Given the description of an element on the screen output the (x, y) to click on. 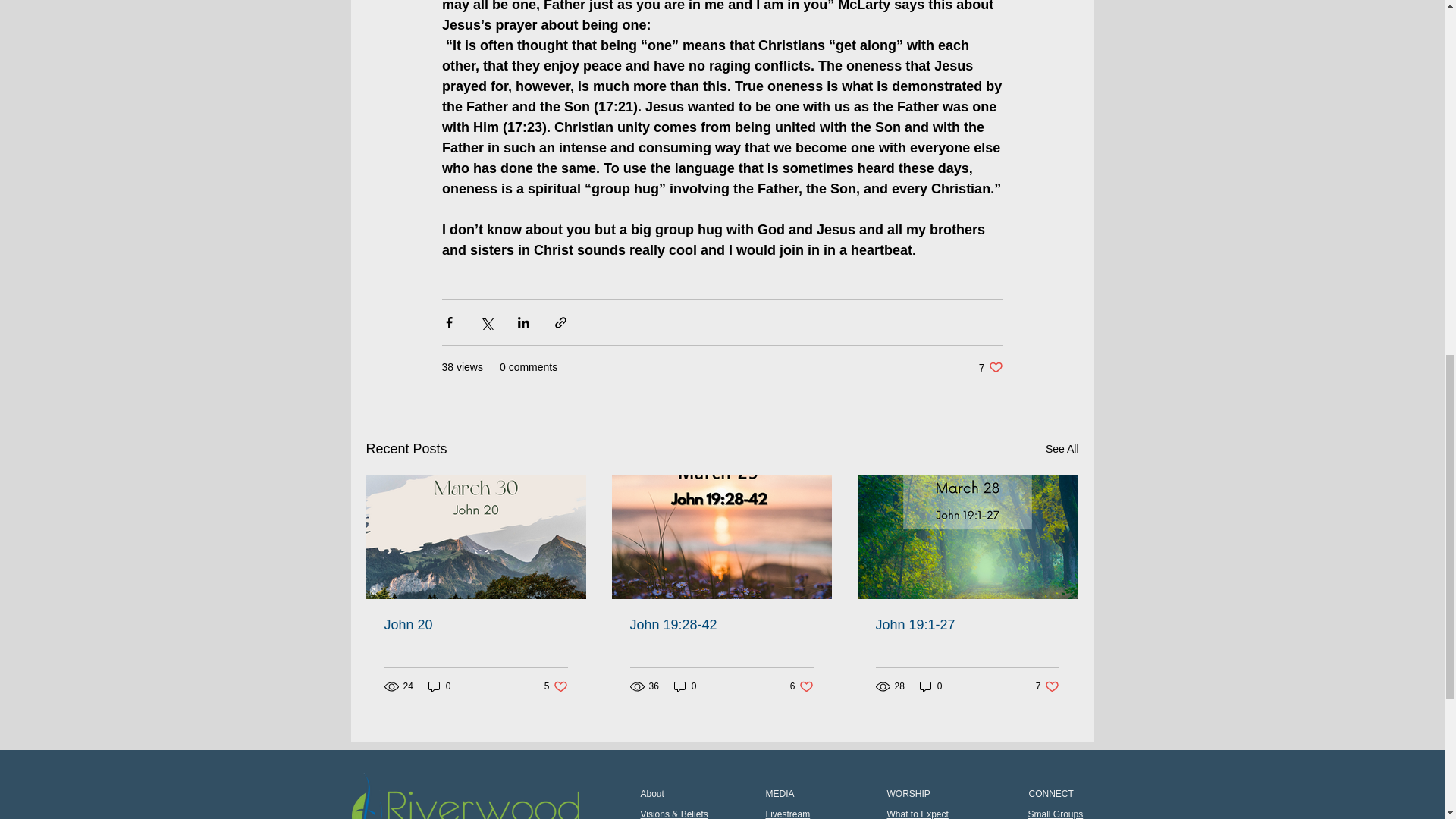
0 (990, 367)
0 (685, 686)
John 19:28-42 (439, 686)
Logo3b.png (720, 625)
John 19:1-27 (555, 686)
John 20 (465, 796)
See All (966, 625)
